Given the description of an element on the screen output the (x, y) to click on. 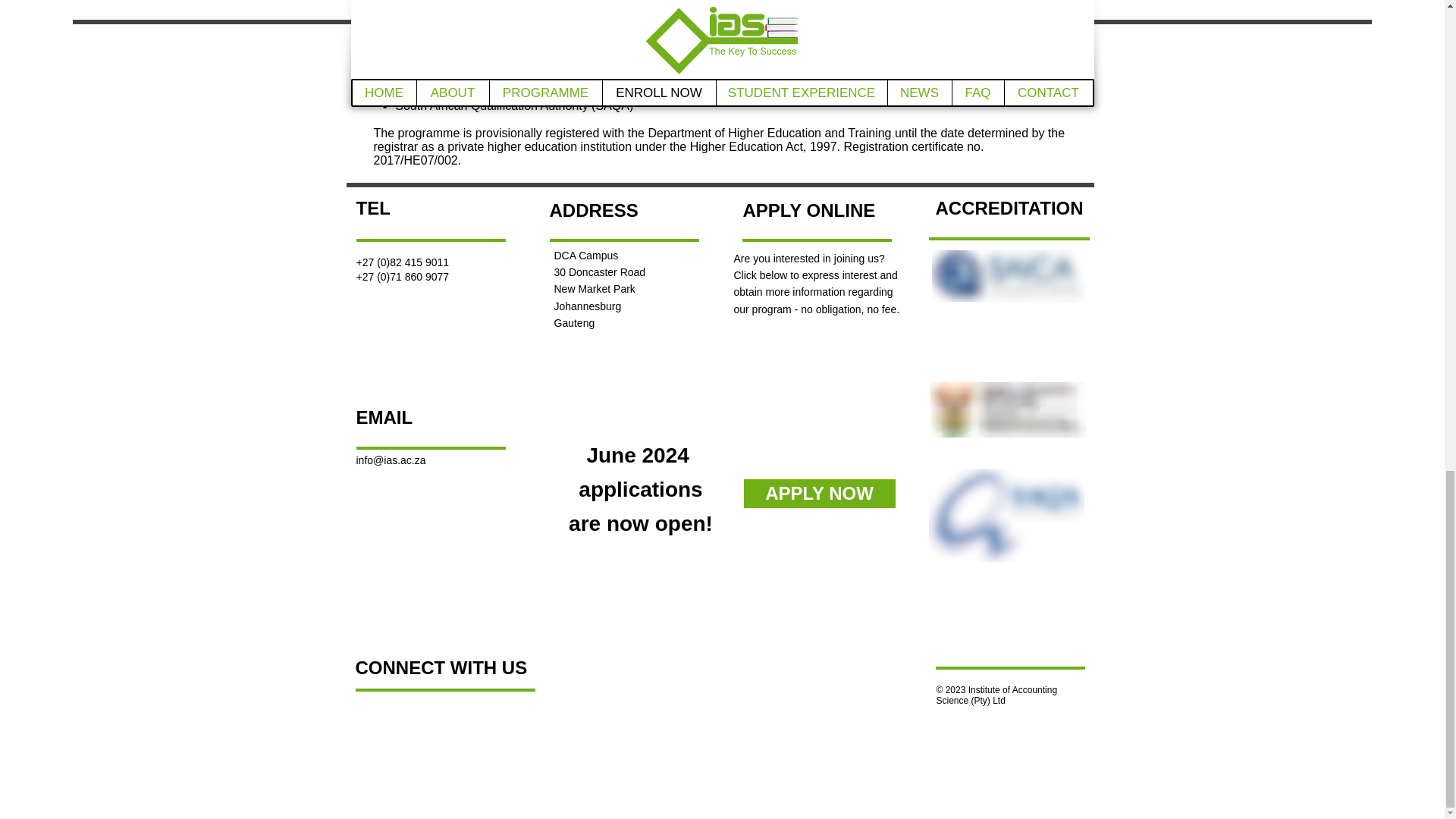
Read More (721, 4)
SAICA logo.png (1007, 276)
APPLY NOW (818, 492)
